Given the description of an element on the screen output the (x, y) to click on. 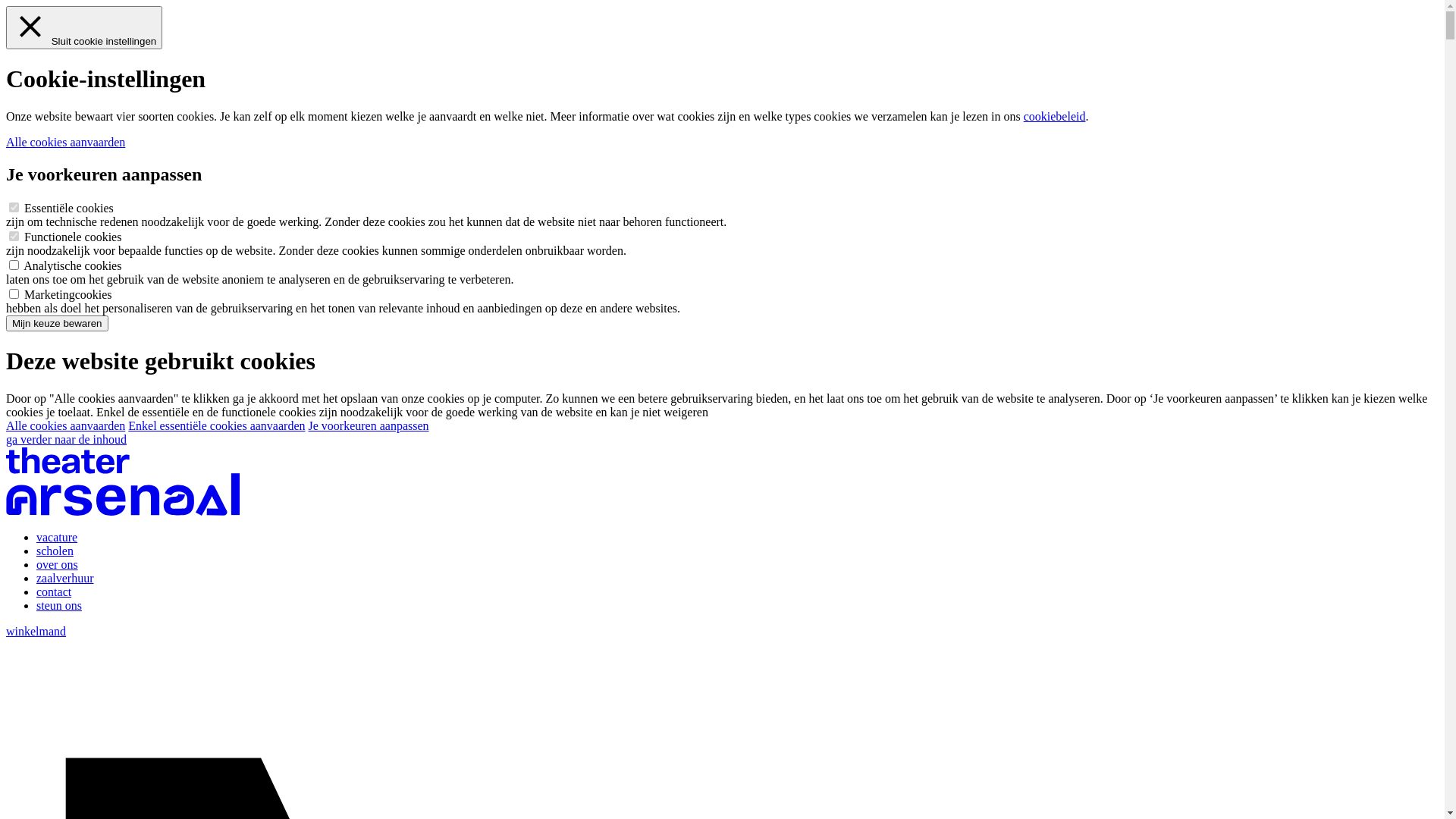
zaalverhuur Element type: text (65, 577)
over ons Element type: text (57, 564)
Mijn keuze bewaren Element type: text (57, 323)
Je voorkeuren aanpassen Element type: text (367, 425)
Alle cookies aanvaarden Element type: text (65, 141)
cookiebeleid Element type: text (1054, 115)
scholen Element type: text (54, 550)
Alle cookies aanvaarden Element type: text (65, 425)
vacature Element type: text (56, 536)
ga verder naar de inhoud Element type: text (66, 439)
steun ons Element type: text (58, 605)
contact Element type: text (53, 591)
Sluit cookie instellingen Element type: text (84, 27)
